Given the description of an element on the screen output the (x, y) to click on. 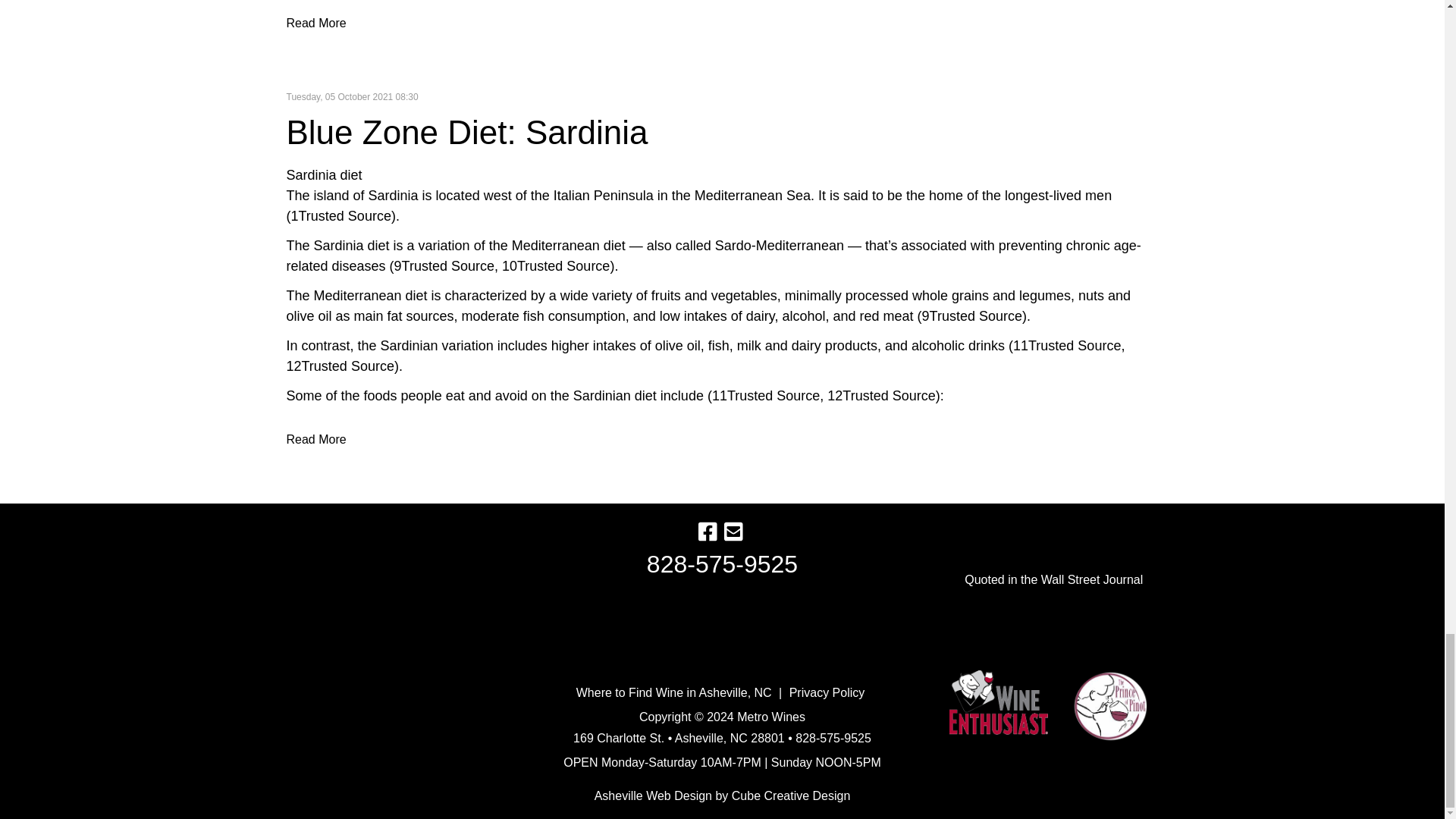
wine-enthusiast image (1109, 706)
TakeoutCentral image (721, 634)
Like Us On Facebook (706, 533)
Asheville Web Design by Cube Creative Design (652, 795)
wine-enthusiast image (998, 702)
WSJ-logo image (1053, 614)
Contact Us (732, 533)
